Given the description of an element on the screen output the (x, y) to click on. 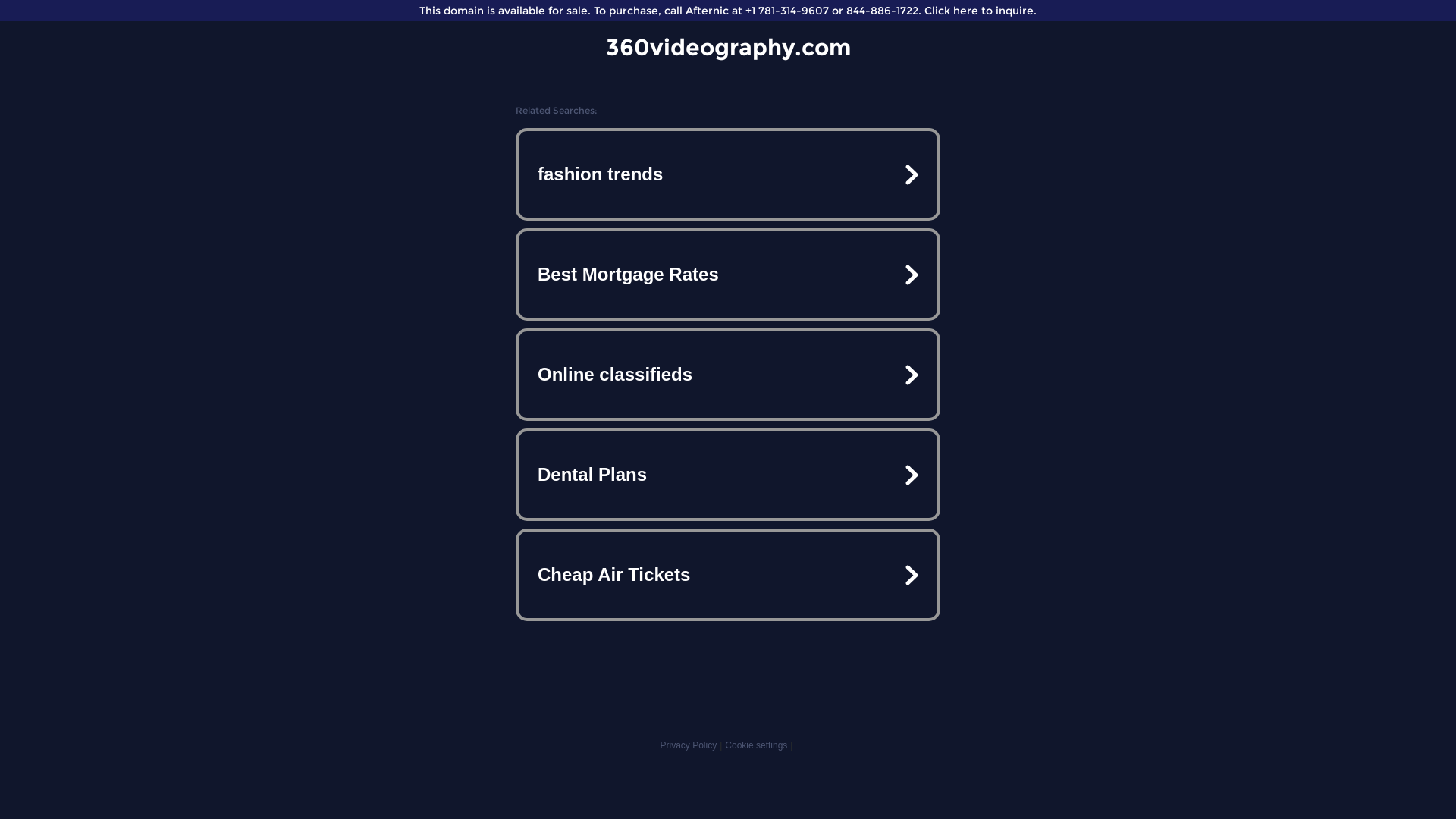
Online classifieds Element type: text (727, 374)
fashion trends Element type: text (727, 174)
Best Mortgage Rates Element type: text (727, 274)
360videography.com Element type: text (727, 47)
Cheap Air Tickets Element type: text (727, 574)
Dental Plans Element type: text (727, 474)
Privacy Policy Element type: text (687, 745)
Cookie settings Element type: text (755, 745)
